Given the description of an element on the screen output the (x, y) to click on. 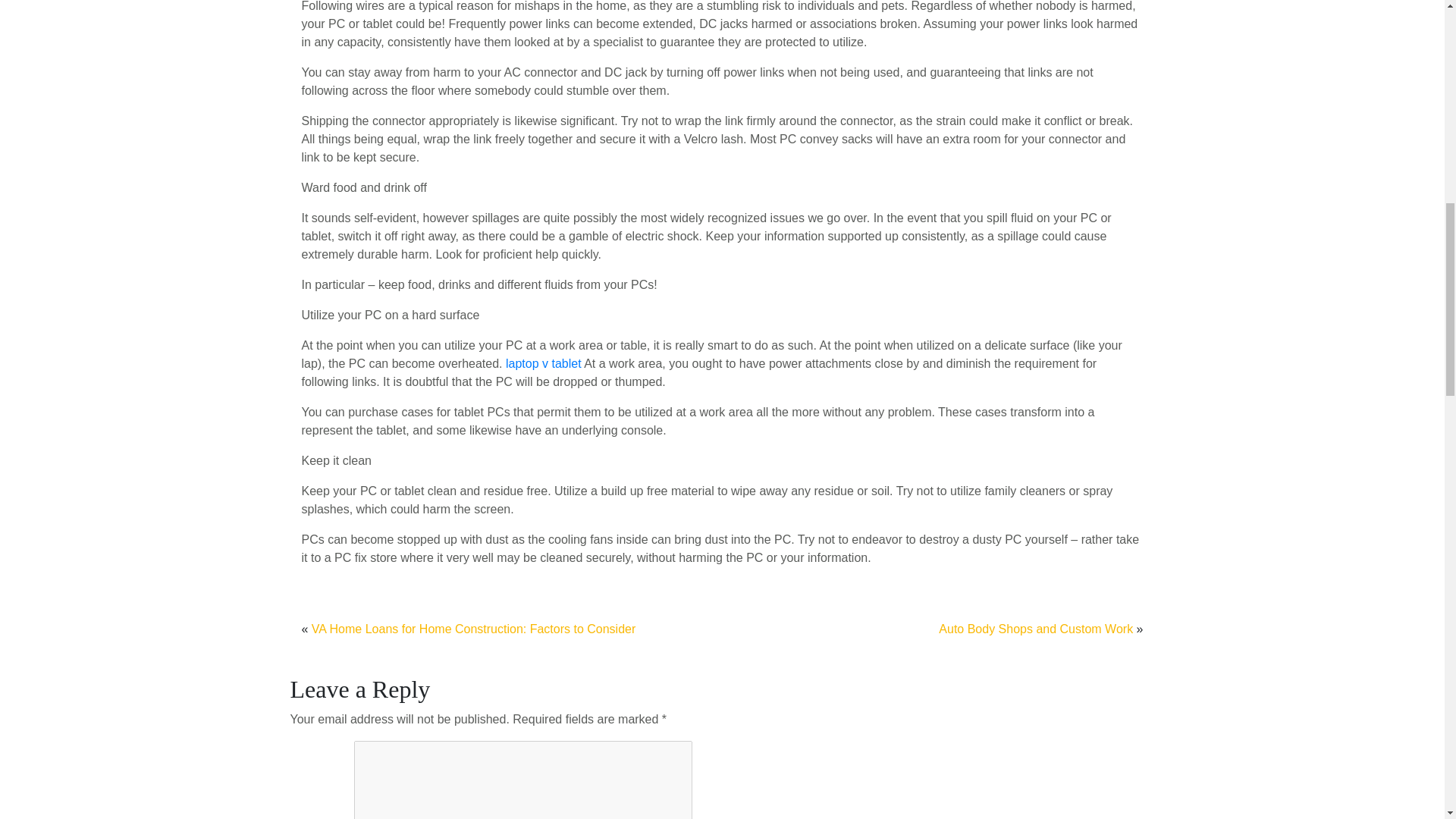
Auto Body Shops and Custom Work (1035, 628)
VA Home Loans for Home Construction: Factors to Consider (472, 628)
laptop v tablet (542, 363)
